Given the description of an element on the screen output the (x, y) to click on. 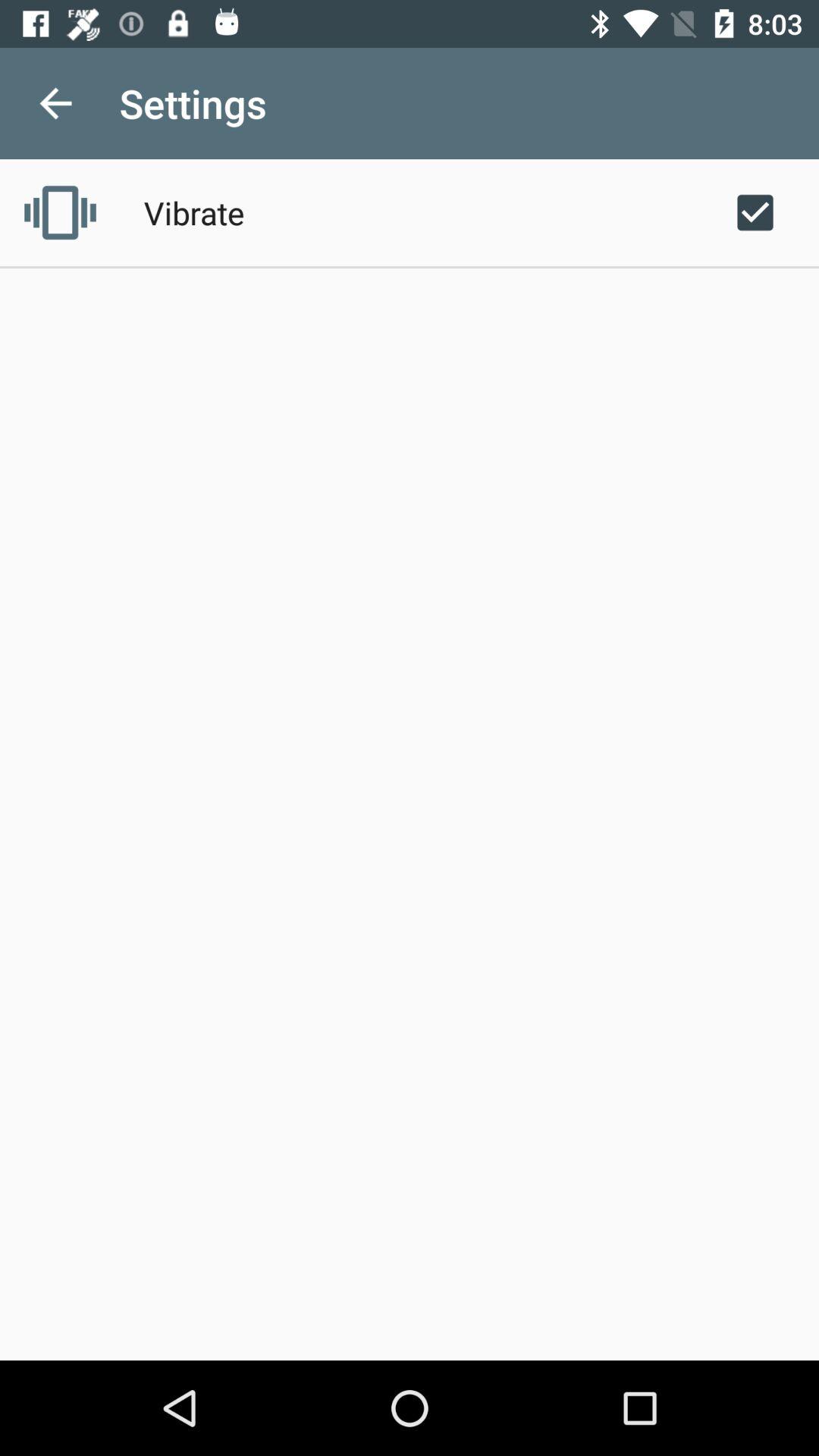
turn off icon below the settings app (193, 212)
